Given the description of an element on the screen output the (x, y) to click on. 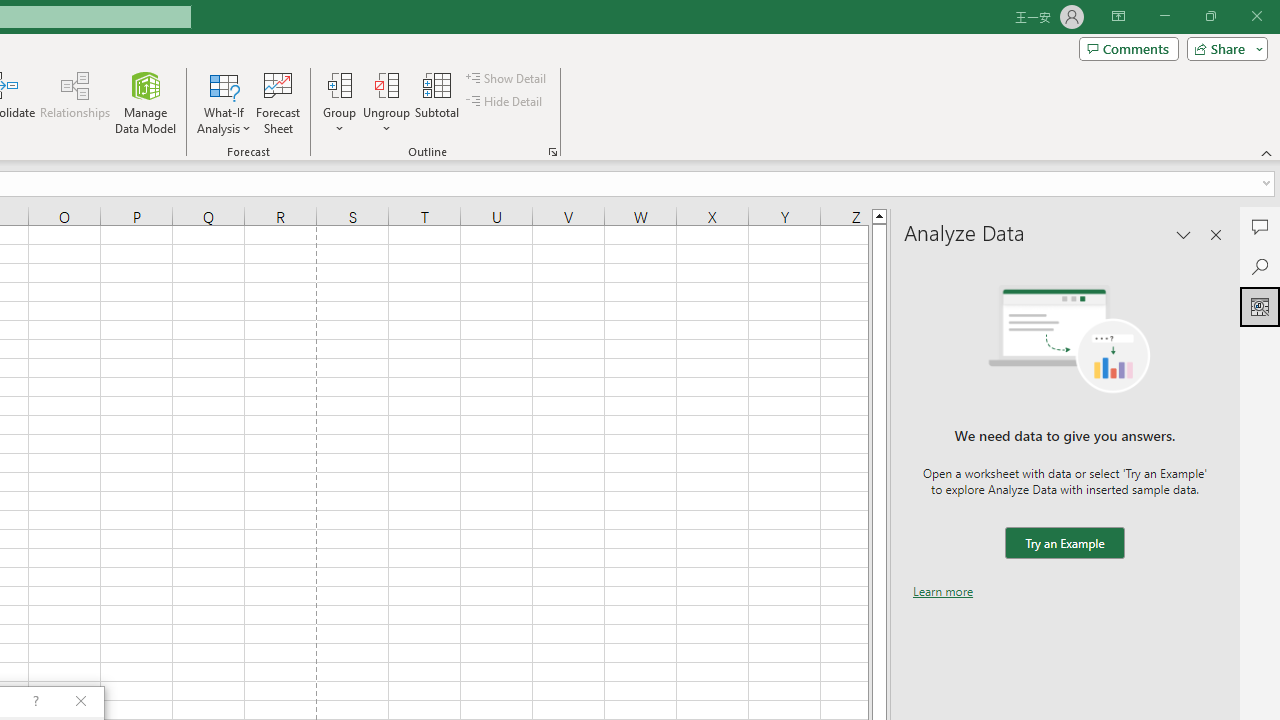
Relationships (75, 102)
Manage Data Model (145, 102)
What-If Analysis (223, 102)
Subtotal (437, 102)
